Given the description of an element on the screen output the (x, y) to click on. 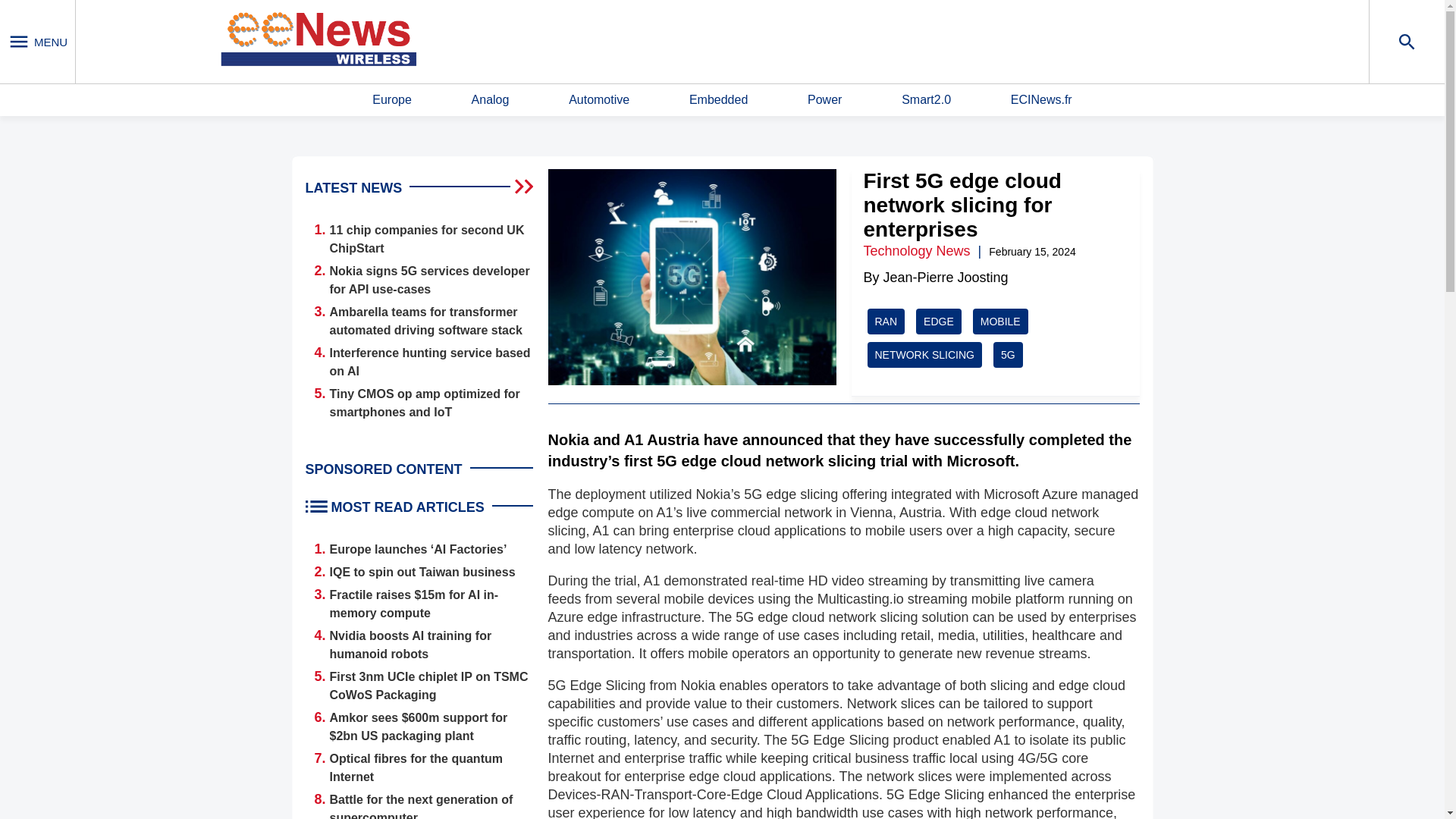
Embedded (718, 99)
Analog (490, 99)
ECINews.fr (1040, 99)
Smart2.0 (925, 99)
Europe (392, 99)
Power (824, 99)
Automotive (598, 99)
